Given the description of an element on the screen output the (x, y) to click on. 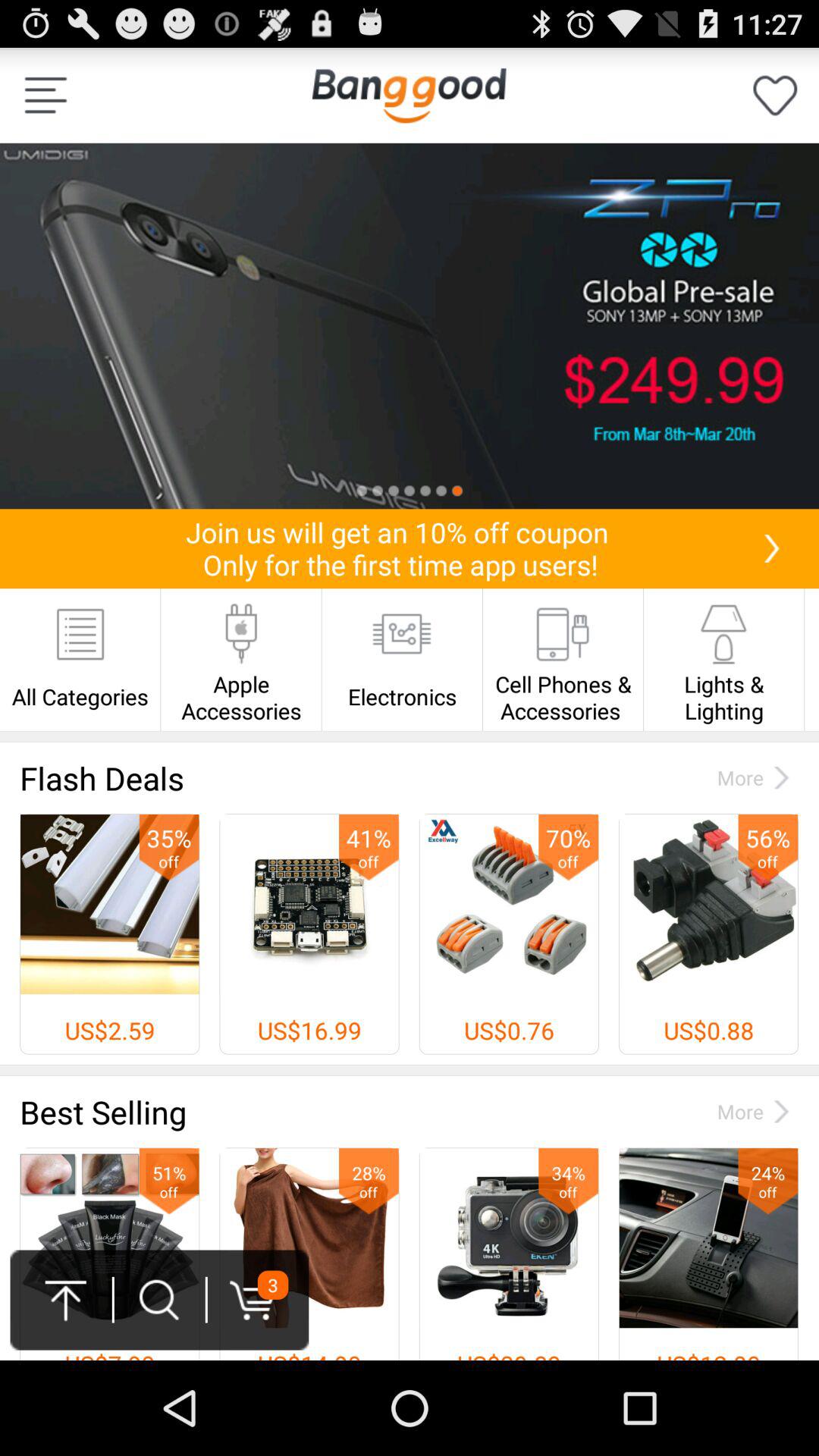
app menu (45, 95)
